Given the description of an element on the screen output the (x, y) to click on. 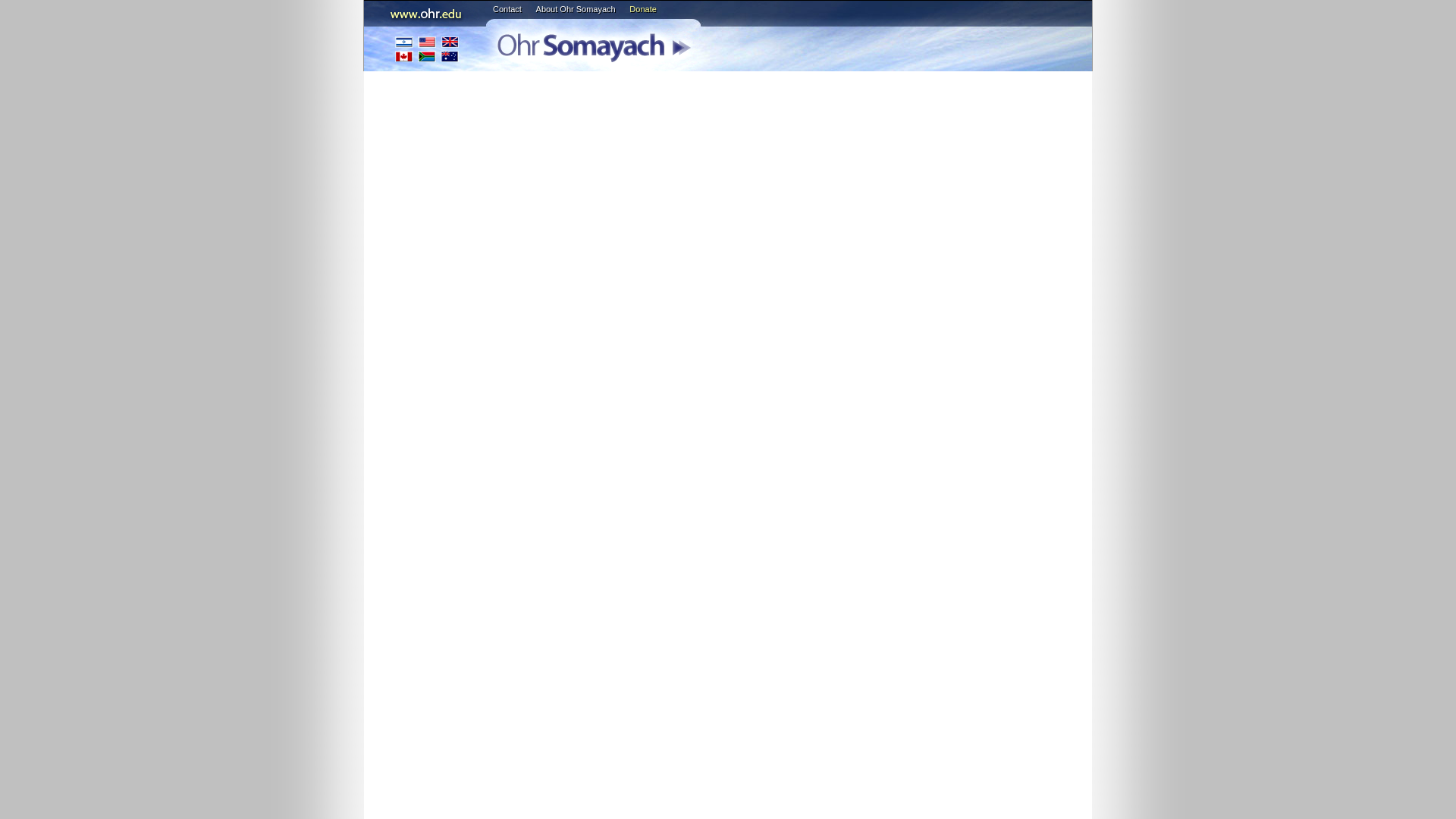
Donate (642, 8)
Contact (507, 8)
International Branches (427, 49)
About Ohr Somayach (575, 8)
International Branches (427, 49)
